Given the description of an element on the screen output the (x, y) to click on. 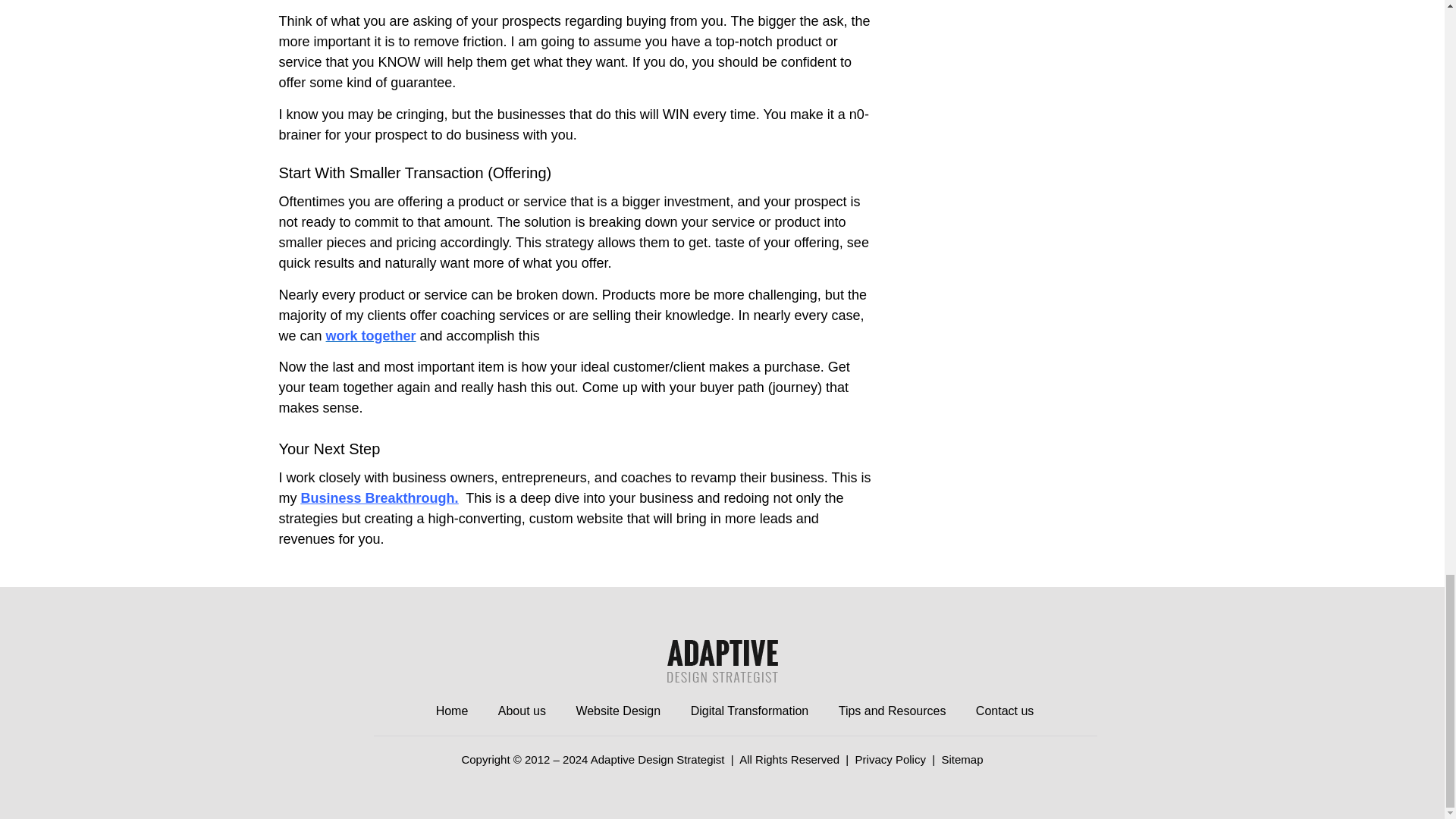
Tips and Resources (895, 710)
Business Breakthrough. (378, 498)
Digital Transformation (752, 710)
About us (524, 710)
work together (371, 335)
Home (454, 710)
Website Design (620, 710)
Contact us (1007, 710)
